Given the description of an element on the screen output the (x, y) to click on. 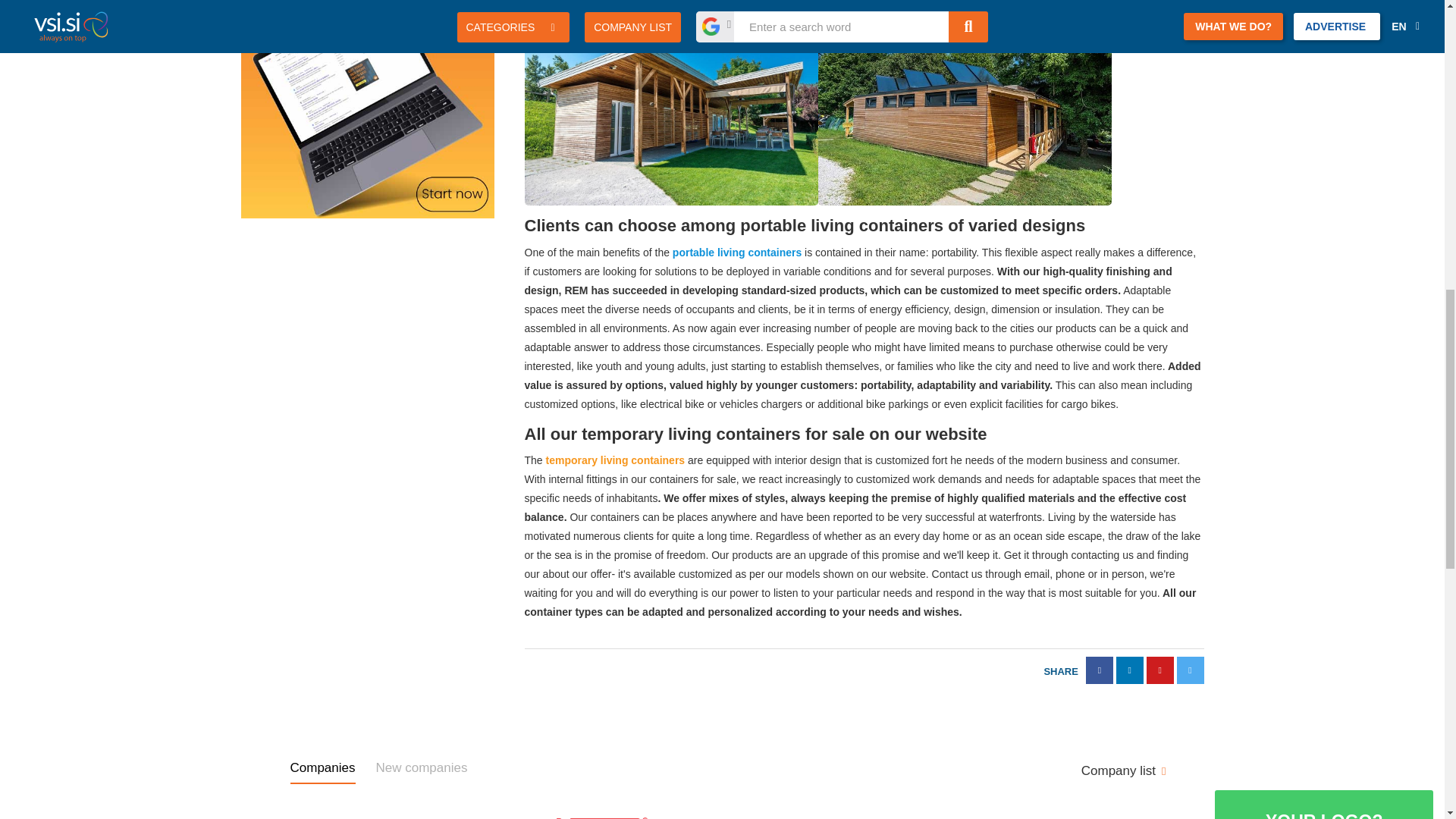
Modular containers REM (671, 107)
Modular solutions REM (963, 107)
Modular living containers REM (615, 460)
Modular containers (737, 252)
Company list (1123, 770)
